Given the description of an element on the screen output the (x, y) to click on. 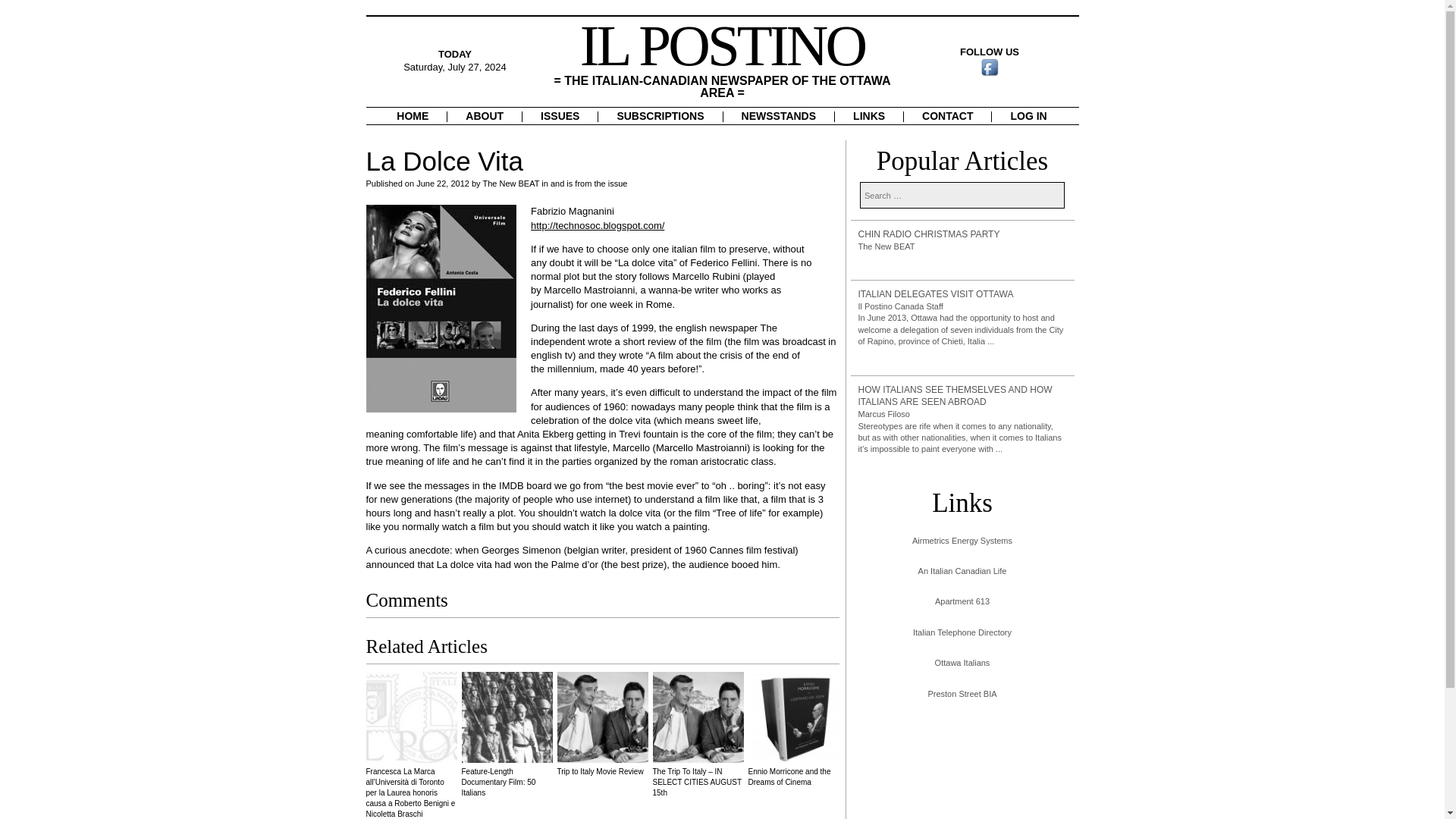
ISSUES (559, 115)
Feature-Length Documentary Film: 50 Italians (506, 733)
Preston Street BIA (962, 694)
Apartment 613 (962, 601)
SUBSCRIPTIONS (660, 115)
HOW ITALIANS SEE THEMSELVES AND HOW ITALIANS ARE SEEN ABROAD (963, 396)
Trip to Italy Movie Review (601, 723)
Marcus Filoso (884, 413)
CONTACT (947, 115)
Ottawa Italians (962, 663)
LOG IN (1027, 115)
ABOUT (483, 115)
Italian Telephone Directory (962, 632)
The New BEAT (887, 245)
ITALIAN DELEGATES VISIT OTTAWA (963, 294)
